Given the description of an element on the screen output the (x, y) to click on. 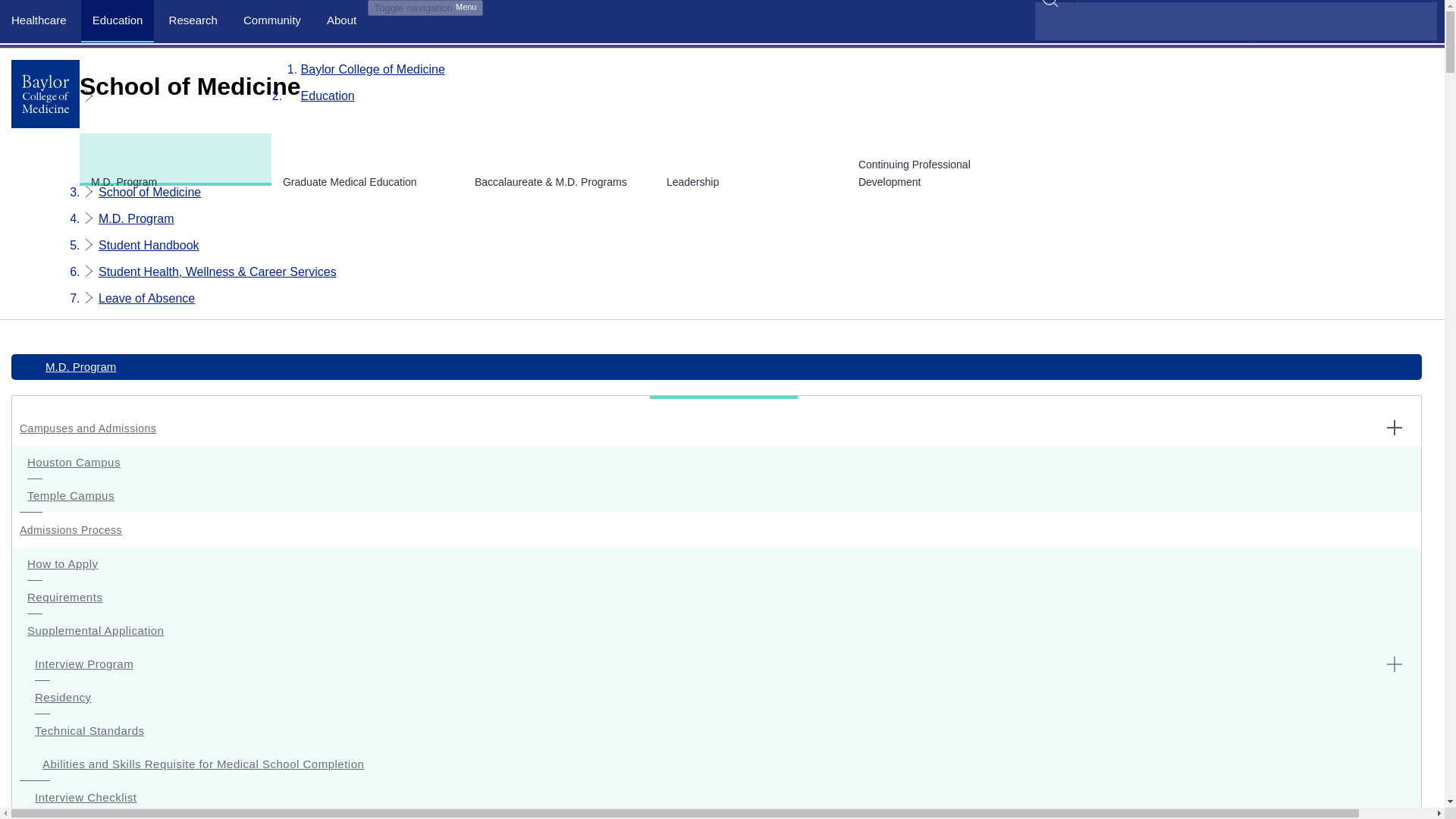
Education (117, 19)
School of Medicine (149, 192)
Student Handbook (149, 245)
Education (328, 95)
Leave of Absence (147, 297)
Healthcare (38, 19)
Baylor College of Medicine (373, 69)
M.D. Program (136, 218)
